Given the description of an element on the screen output the (x, y) to click on. 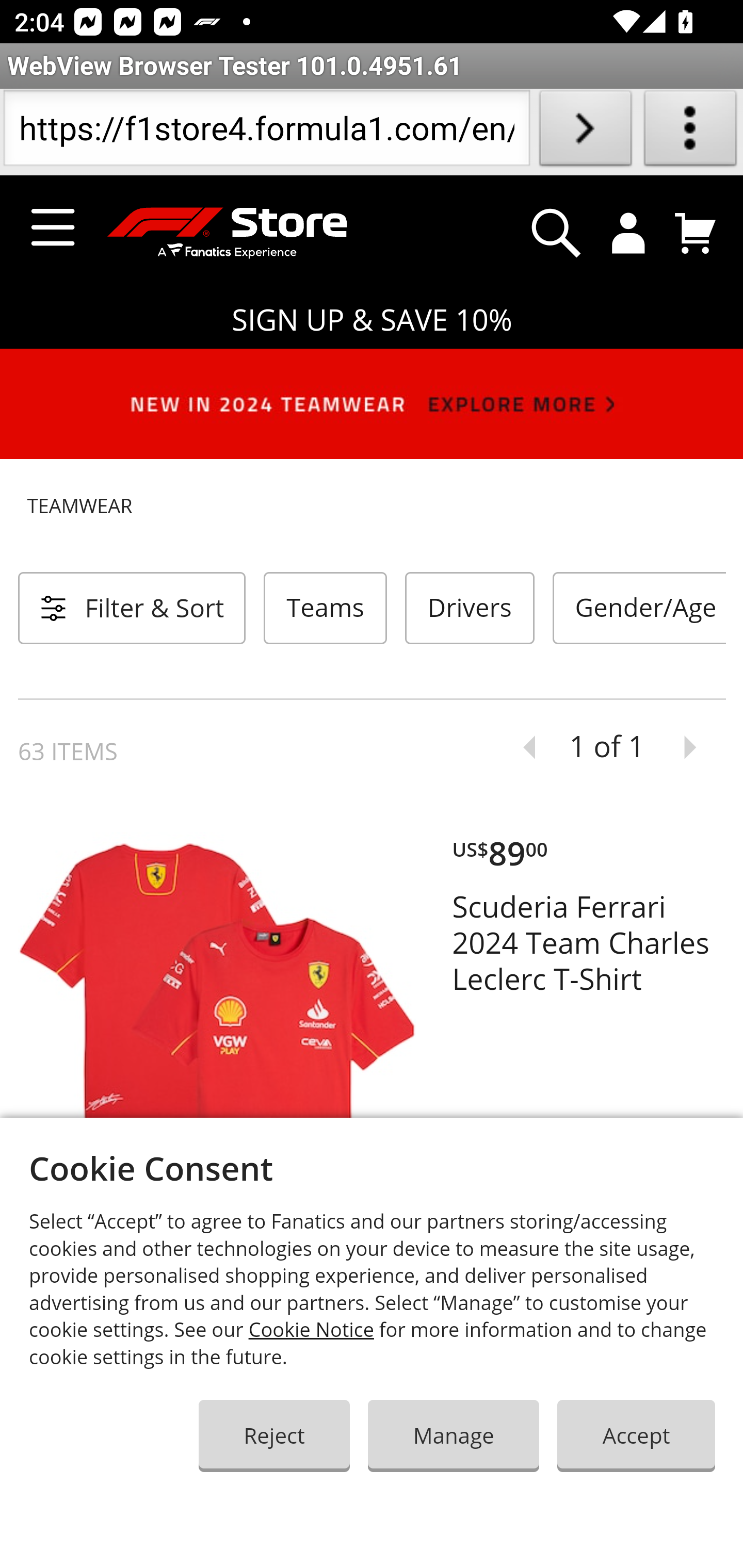
Load URL (585, 132)
About WebView (690, 132)
F1 Store (217, 234)
 (555, 233)
 (628, 233)
You have 0 items in cart. The total is US$0.00  (695, 232)
SIGN UP & SAVE 10% (371, 320)
NEW IN 2024 TEAMWEAR - SHOP NOW (371, 411)
NEW IN 2024 TEAMWEAR - SHOP NOW (371, 404)
TEAMWEAR (371, 506)
Product Filters (132, 607)
Teams (325, 607)
Drivers (469, 607)
Gender/Age (638, 607)
previous page  (522, 747)
next page  (697, 747)
Scuderia Ferrari 2024 Team Charles Leclerc T-Shirt (589, 942)
